Given the description of an element on the screen output the (x, y) to click on. 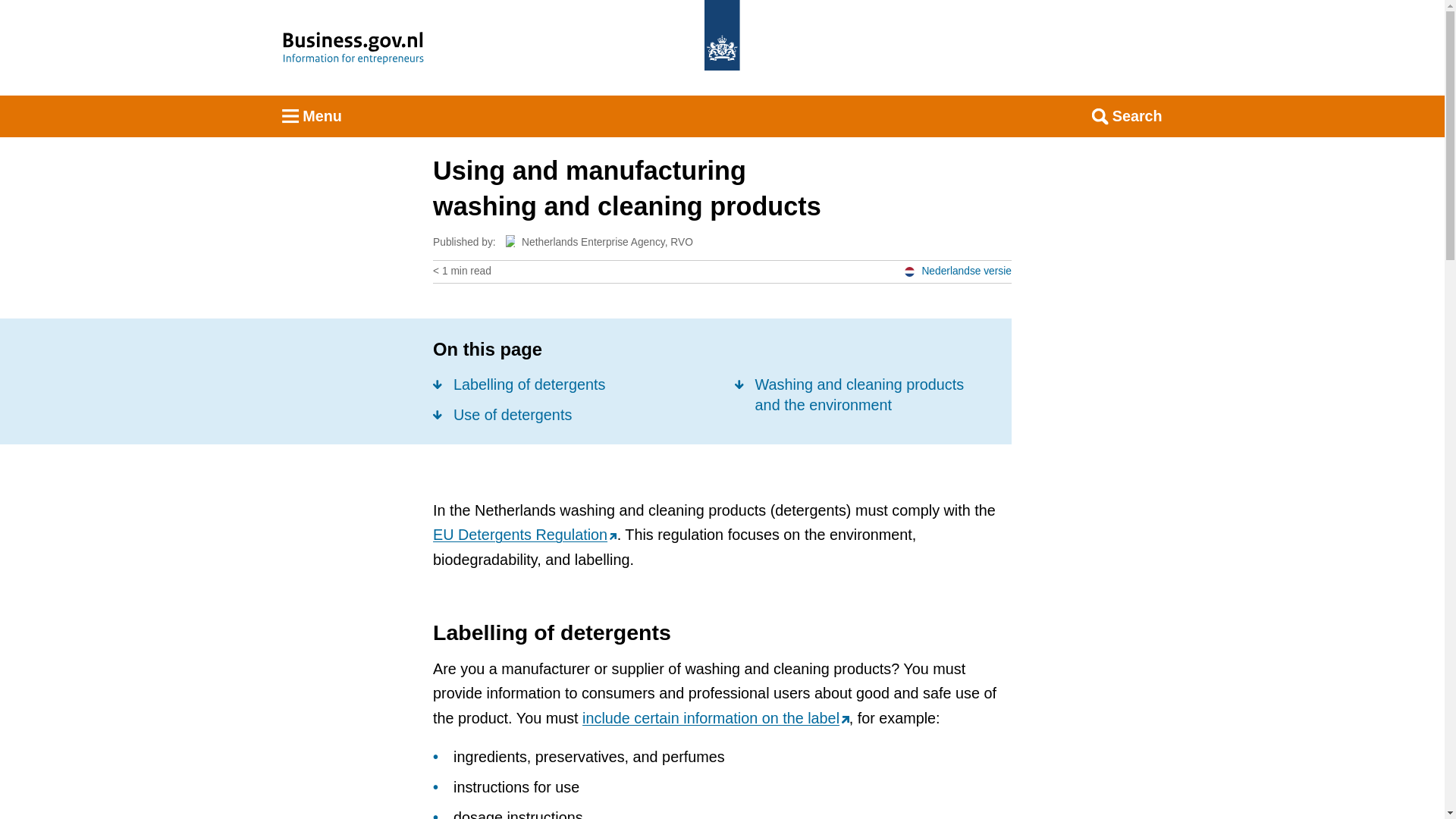
EU Detergents Regulation (524, 534)
include certain information on the label (715, 718)
Skip to navigation (742, 28)
Search (1126, 116)
Use of detergents (502, 414)
Labelling of detergents (518, 384)
Nederlandse versie (957, 271)
Menu (312, 116)
Washing and cleaning products and the environment (861, 394)
